Given the description of an element on the screen output the (x, y) to click on. 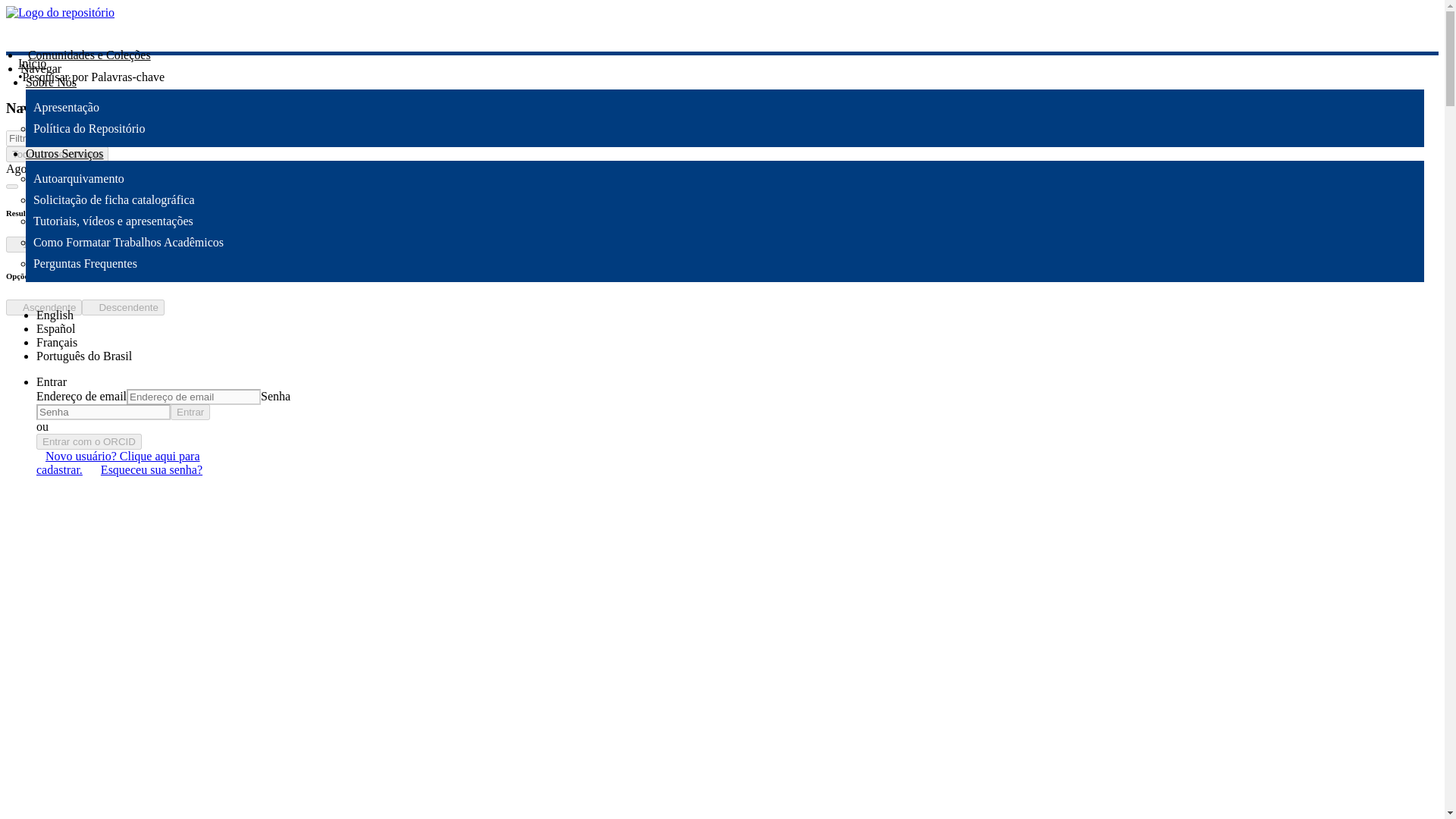
Entrar (51, 381)
5 (47, 244)
40 (147, 244)
100 (252, 244)
Entrar com o ORCID (88, 441)
10 (79, 244)
80 (215, 244)
Navegar (40, 68)
Entrar (189, 412)
Autoarquivamento (78, 178)
